Given the description of an element on the screen output the (x, y) to click on. 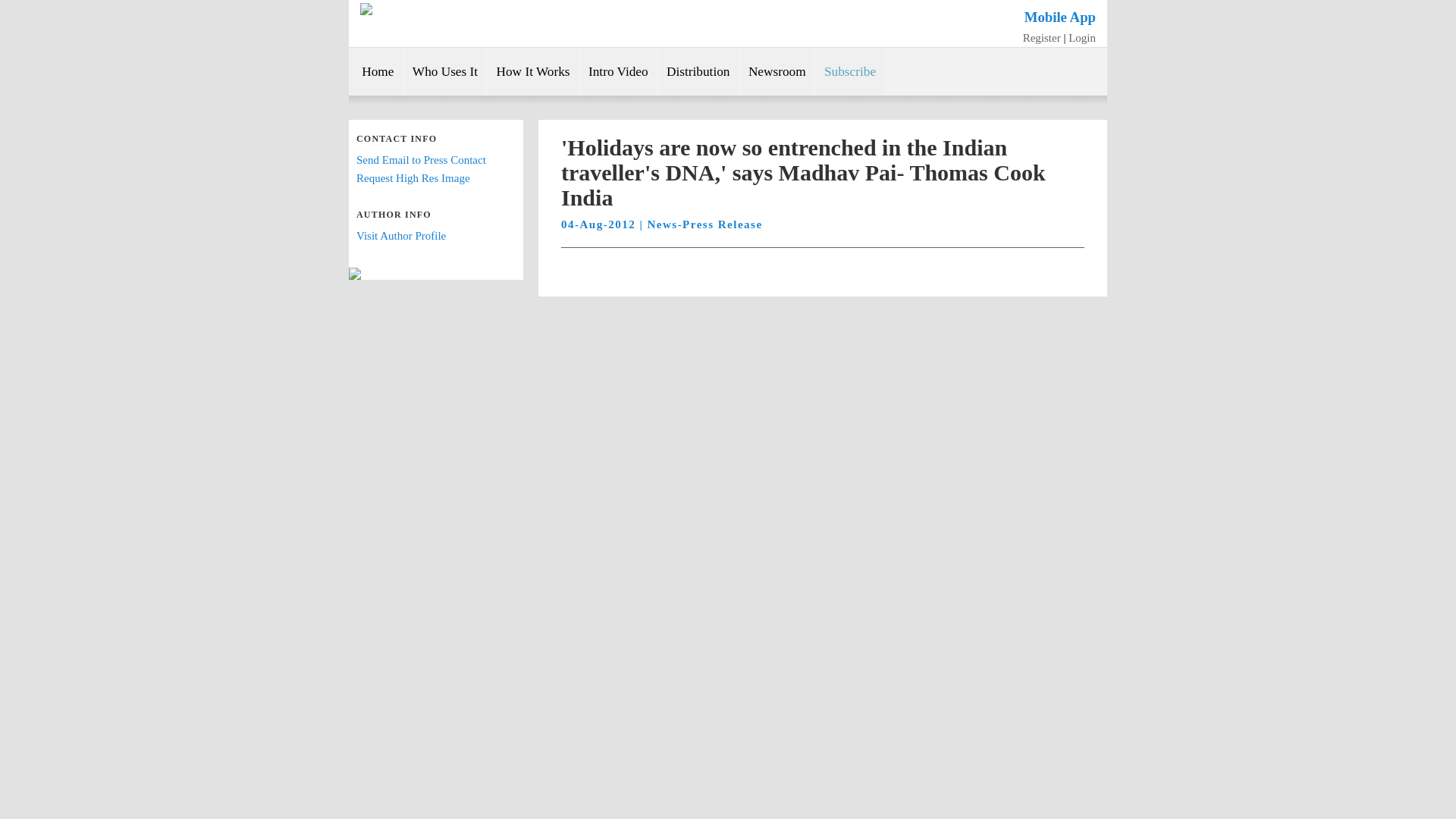
Login (1082, 37)
PRSafe (426, 9)
Send Email to Press Contact (421, 159)
Request High Res Image (413, 177)
Intro Video (618, 71)
Mobile App (1060, 17)
Register (1042, 37)
Subscribe (849, 71)
How It Works (532, 71)
Distribution (698, 71)
Newsroom (777, 71)
Who Uses It (445, 71)
Home (375, 71)
Visit Author Profile (400, 235)
